Given the description of an element on the screen output the (x, y) to click on. 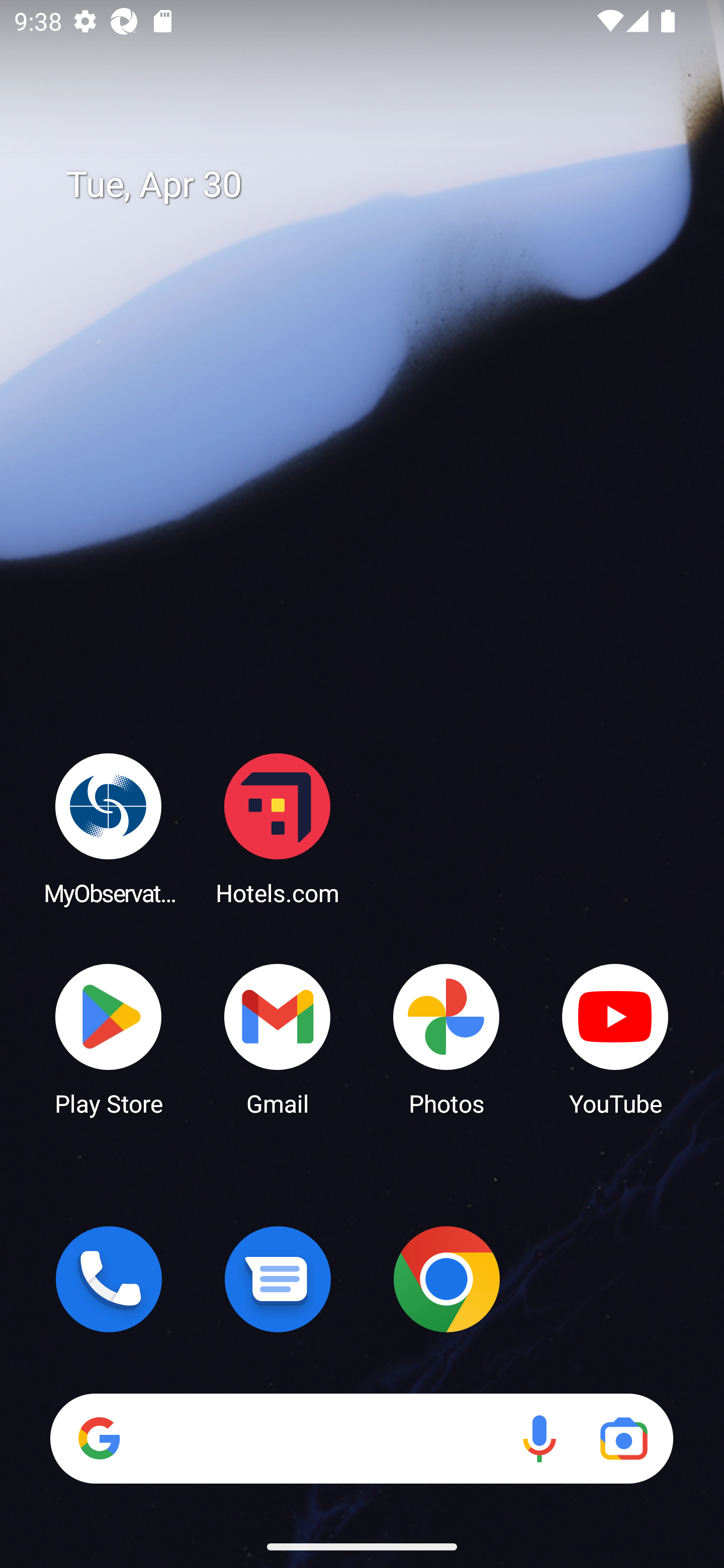
Tue, Apr 30 (375, 184)
MyObservatory (108, 828)
Hotels.com (277, 828)
Play Store (108, 1038)
Gmail (277, 1038)
Photos (445, 1038)
YouTube (615, 1038)
Phone (108, 1279)
Messages (277, 1279)
Chrome (446, 1279)
Voice search (539, 1438)
Google Lens (623, 1438)
